Given the description of an element on the screen output the (x, y) to click on. 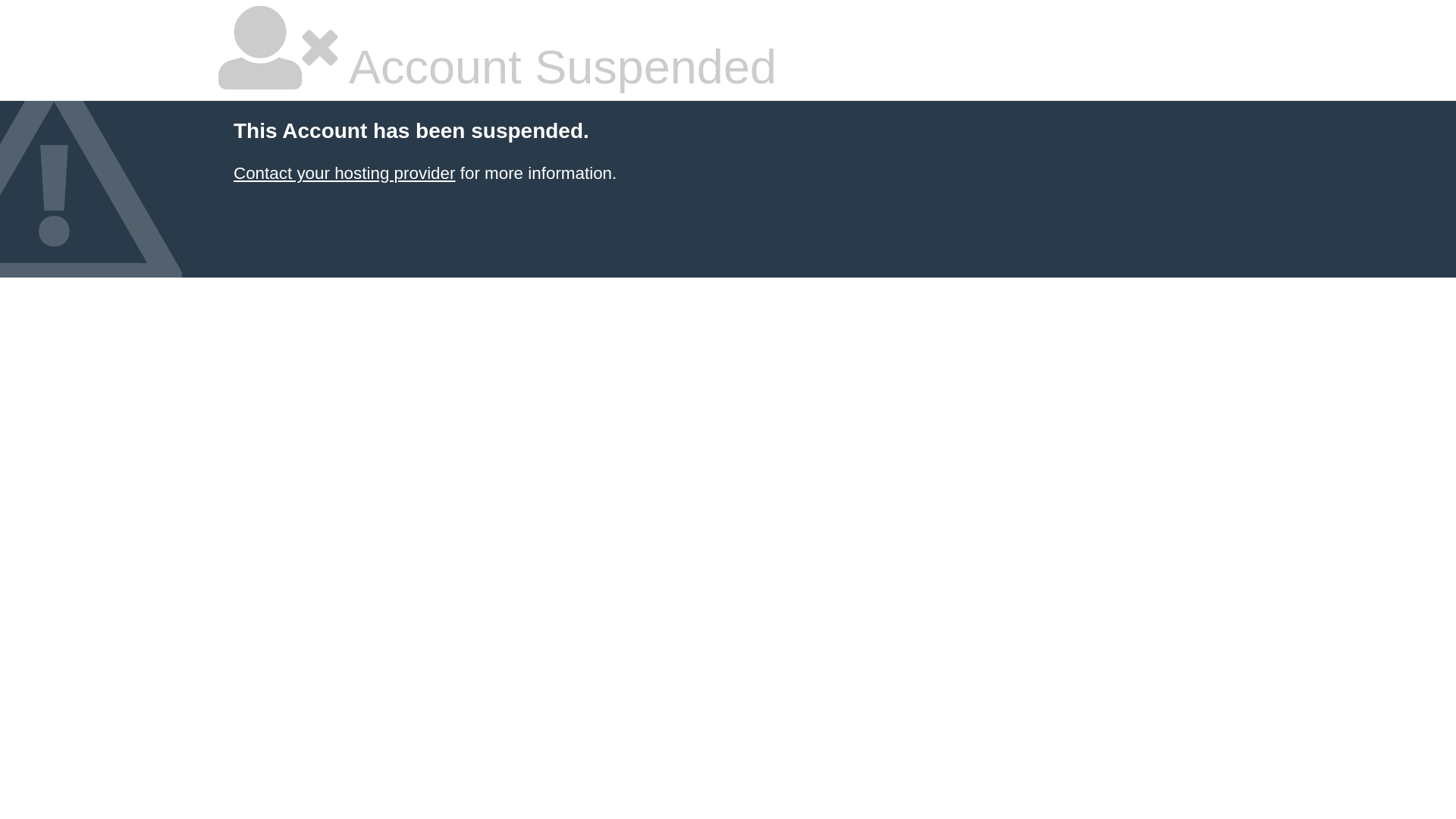
Contact your hosting provider Element type: text (344, 172)
